Given the description of an element on the screen output the (x, y) to click on. 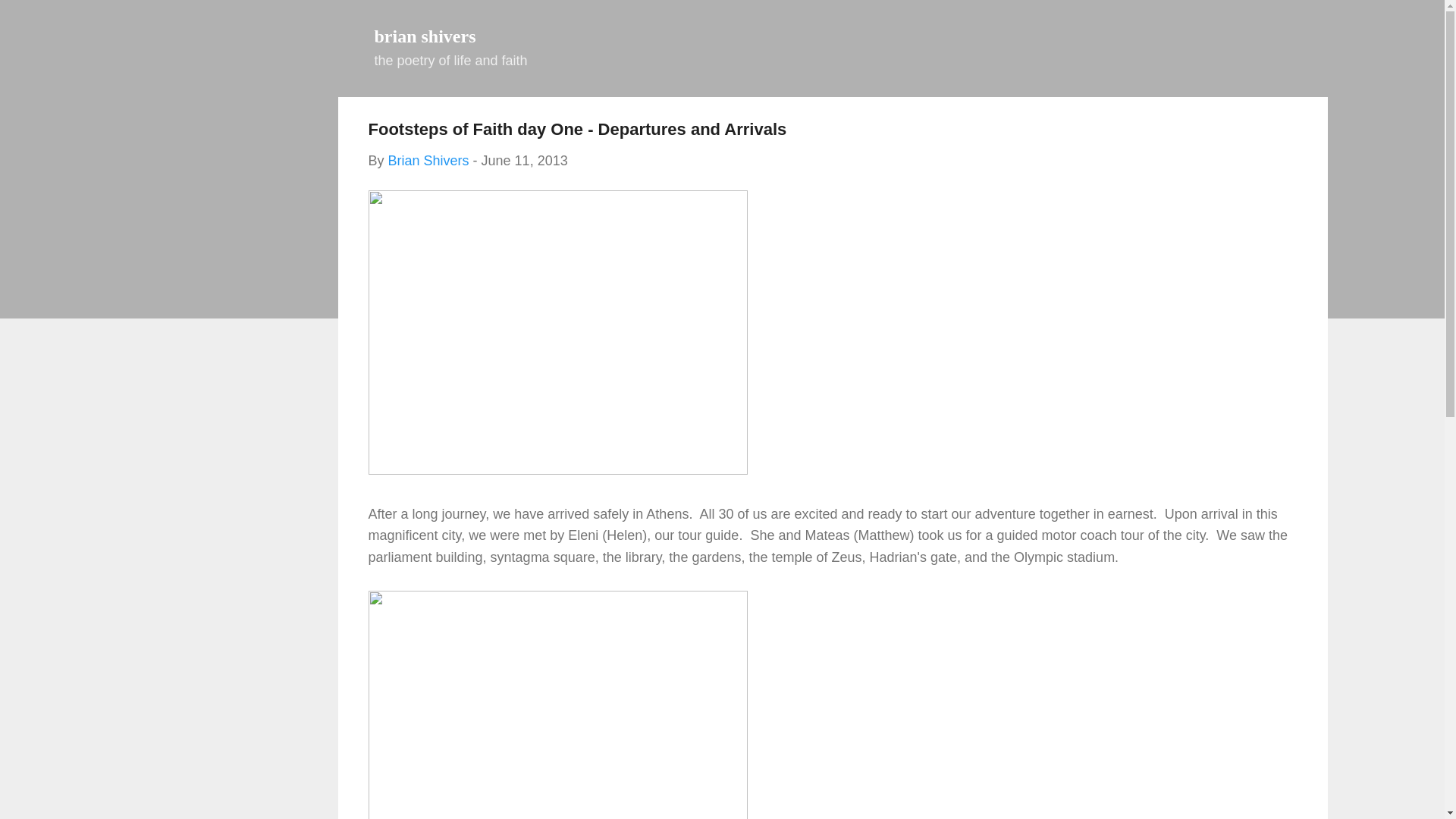
June 11, 2013 (524, 160)
author profile (428, 160)
Brian Shivers (428, 160)
Search (34, 18)
brian shivers (425, 35)
permanent link (524, 160)
